Given the description of an element on the screen output the (x, y) to click on. 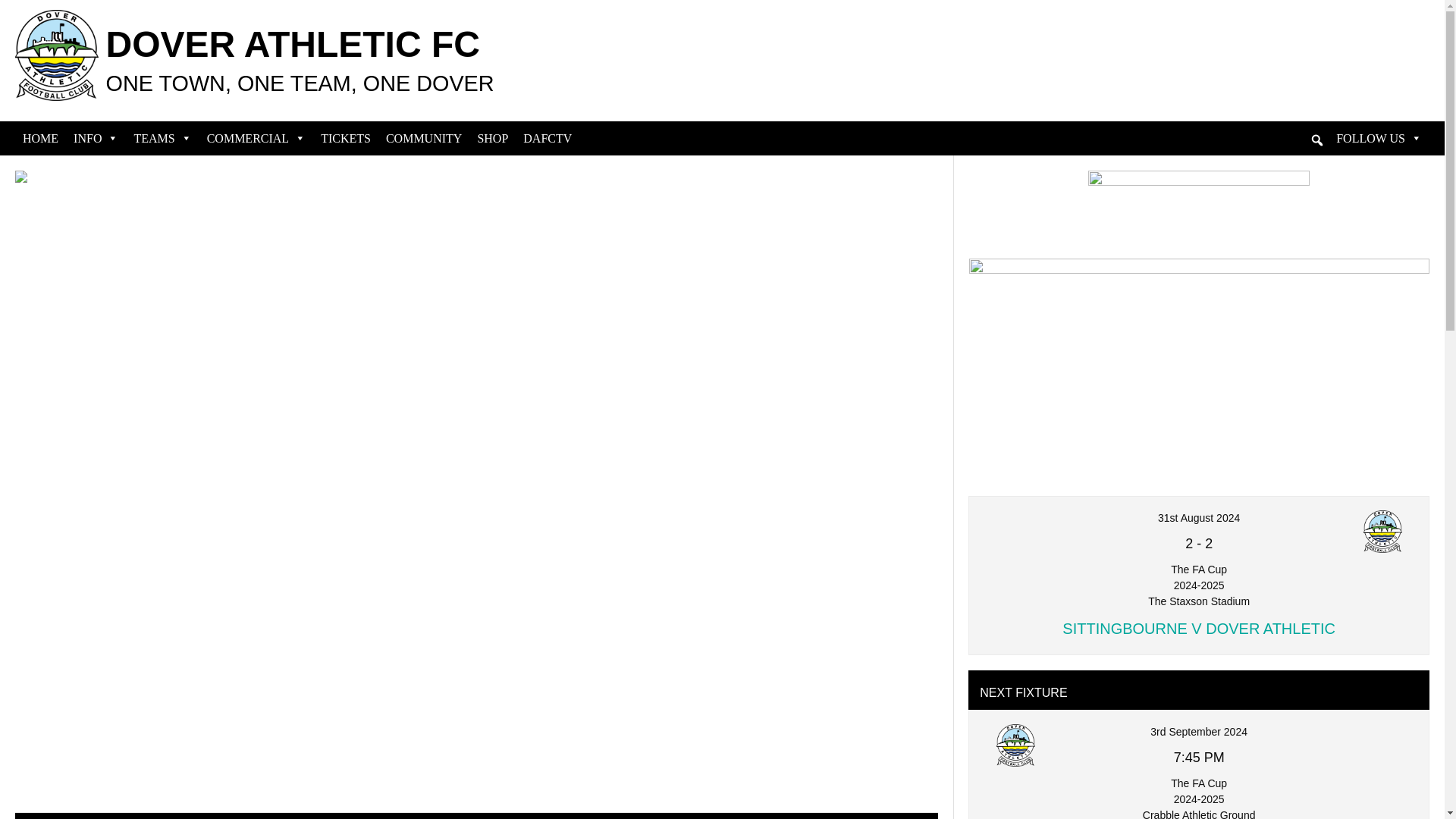
COMMERCIAL (256, 138)
HOME (39, 138)
Dover Athletic (1382, 531)
Sittingbourne (1015, 531)
INFO (95, 138)
DOVER ATHLETIC FC (293, 44)
TEAMS (161, 138)
Sittingbourne (1382, 744)
Dover Athletic (1015, 744)
